Given the description of an element on the screen output the (x, y) to click on. 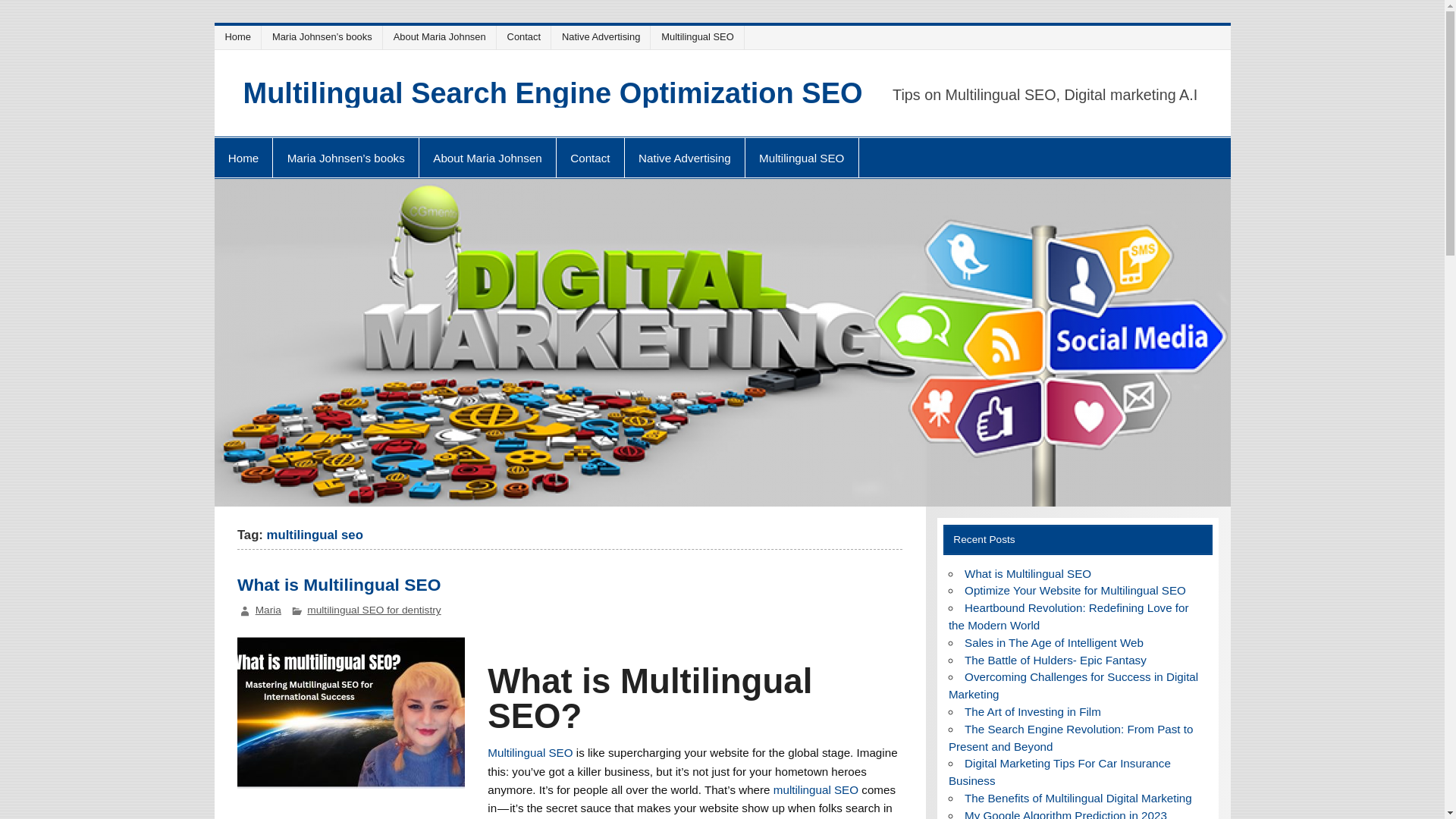
Contact (590, 157)
What is Multilingual SEO (1026, 573)
Overcoming Challenges for Success in Digital Marketing (1073, 685)
The Benefits of Multilingual Digital Marketing (1077, 797)
Multilingual SEO (802, 157)
Home (239, 37)
multilingual SEO for dentistry (374, 609)
About Maria Johnsen (487, 157)
Home (239, 37)
Heartbound Revolution: Redefining Love for the Modern World (1069, 616)
Maria (268, 609)
Home (243, 157)
Multilingual Search Engine Optimization SEO (552, 92)
Native Advertising (684, 157)
